Given the description of an element on the screen output the (x, y) to click on. 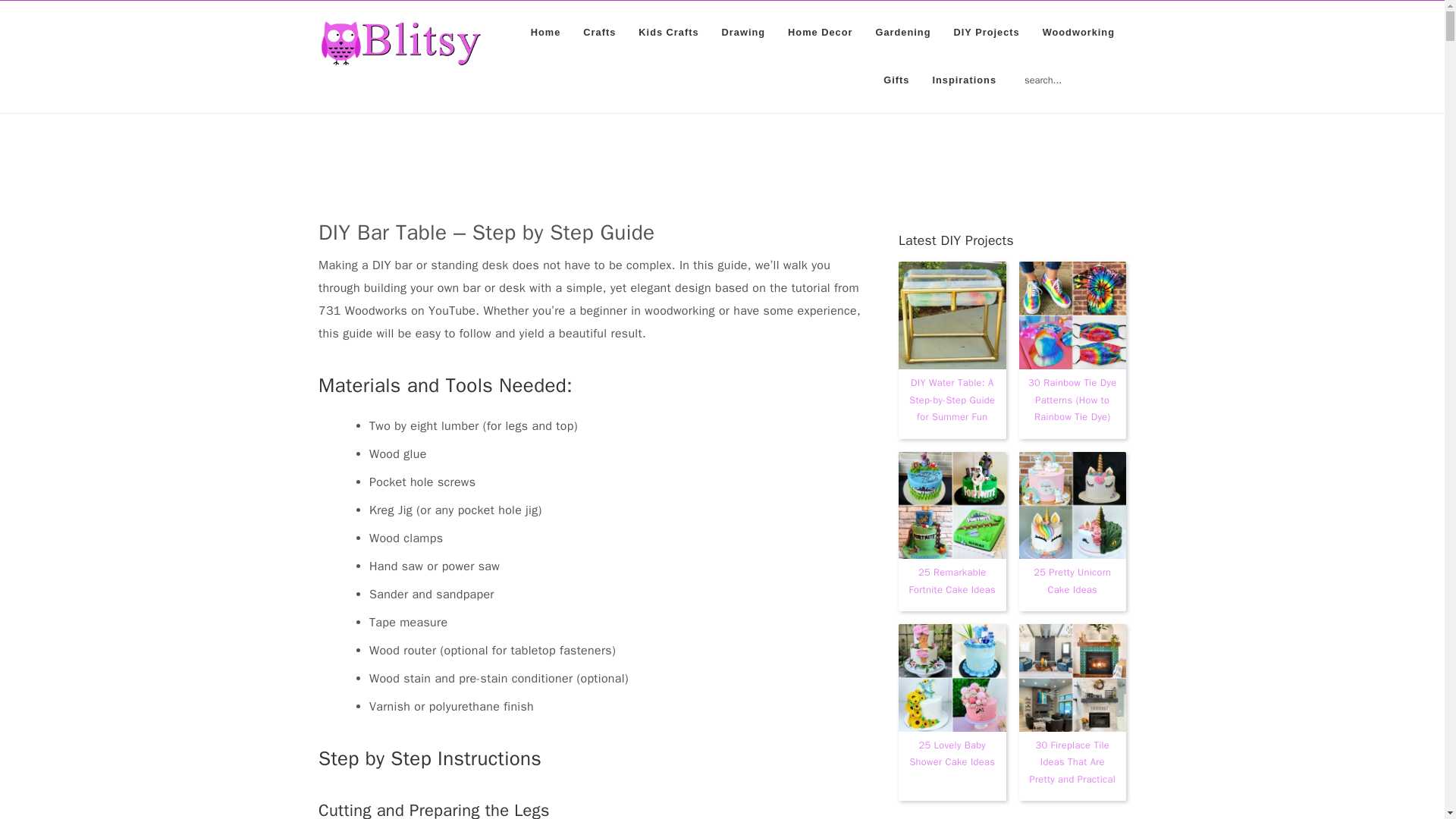
Gardening (902, 32)
Blitsy (399, 43)
Search (1128, 71)
Search (1128, 71)
Gifts (896, 80)
Drawing (743, 32)
Inspirations (963, 80)
Search (1128, 71)
Blitsy (399, 57)
Woodworking (1077, 32)
Crafts (599, 32)
DIY Projects (986, 32)
Home Decor (819, 32)
Home (545, 32)
